Given the description of an element on the screen output the (x, y) to click on. 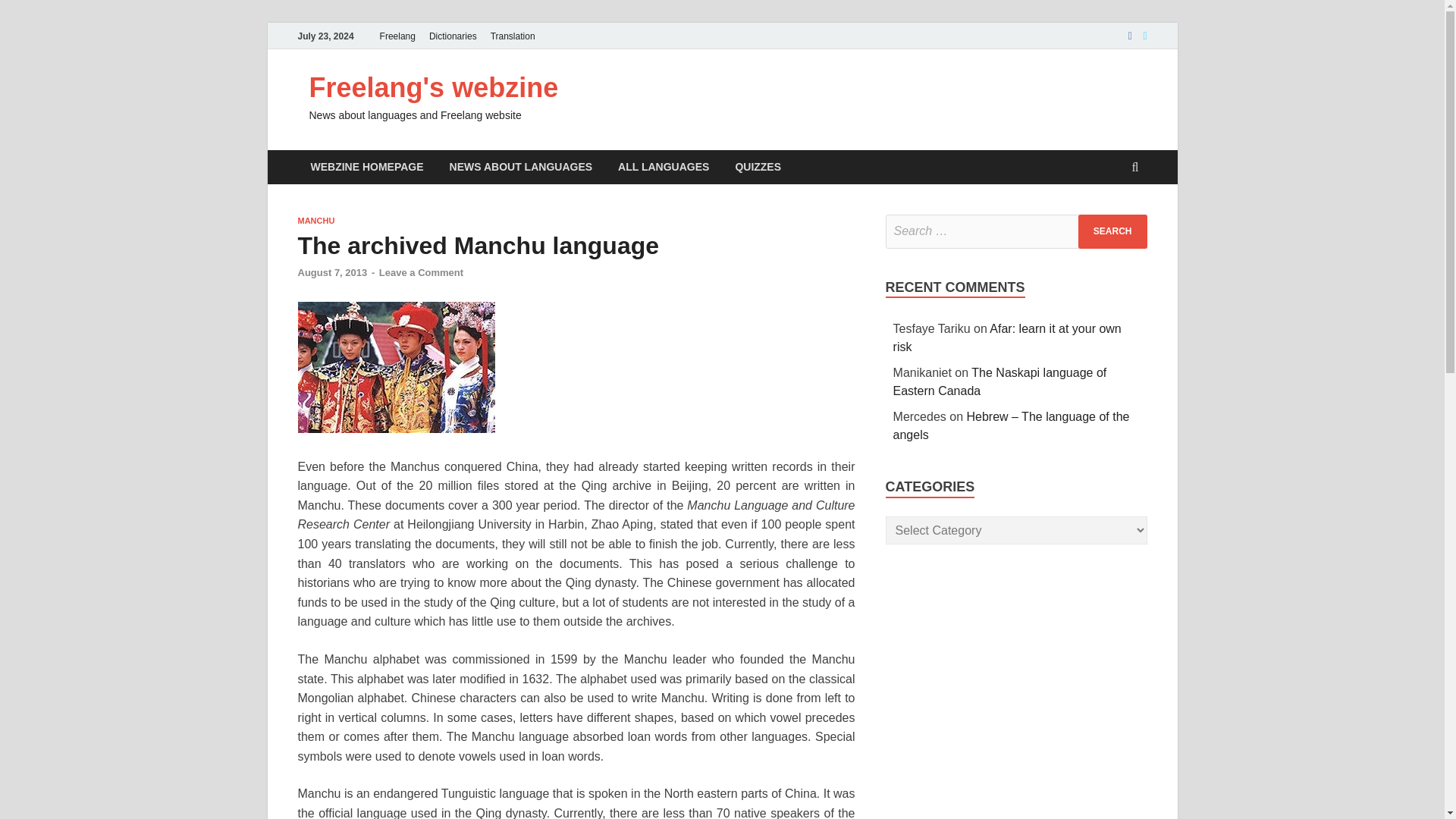
QUIZZES (757, 166)
WEBZINE HOMEPAGE (366, 166)
Afar: learn it at your own risk (1007, 337)
Search (1112, 231)
ALL LANGUAGES (663, 166)
The Naskapi language of Eastern Canada (999, 381)
NEWS ABOUT LANGUAGES (520, 166)
MANCHU (315, 220)
Dictionaries (452, 35)
Search (1112, 231)
Translation (512, 35)
Freelang's webzine (433, 87)
Leave a Comment (420, 272)
Freelang (397, 35)
Search (1112, 231)
